Given the description of an element on the screen output the (x, y) to click on. 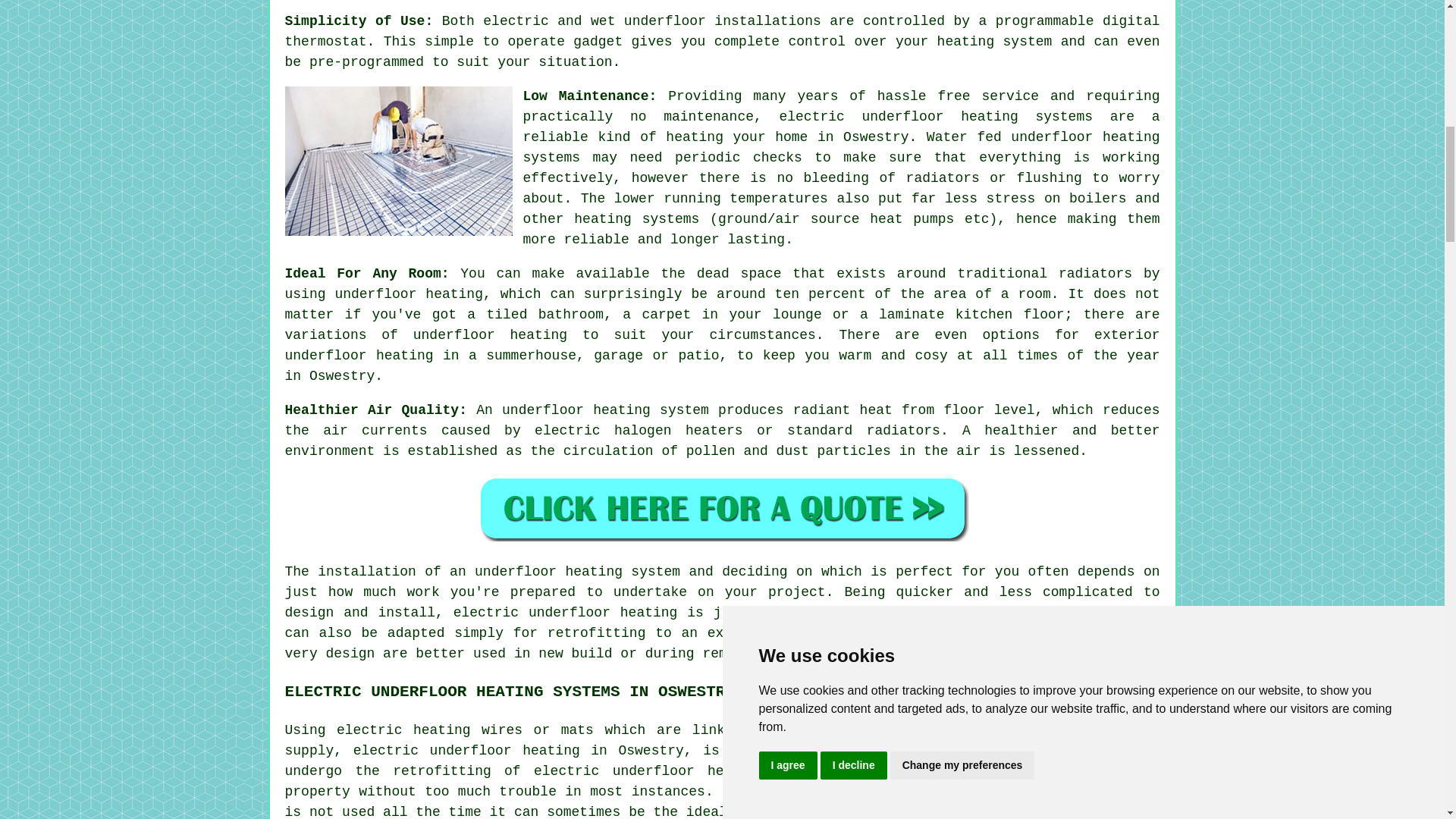
Underfloor Heating Quotes in Oswestry Shropshire (722, 508)
